Given the description of an element on the screen output the (x, y) to click on. 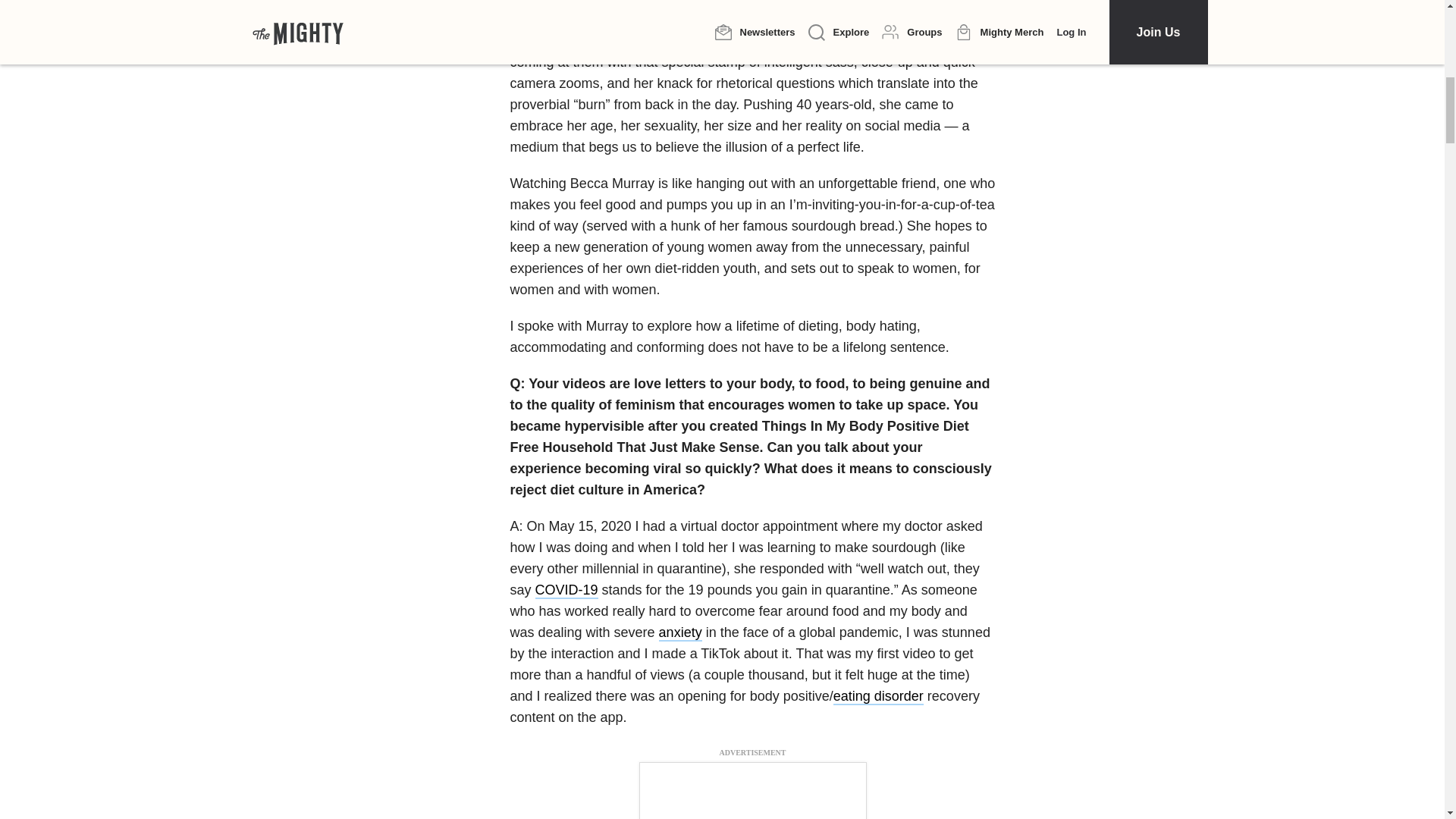
COVID-19 (566, 590)
eating disorder (877, 696)
self-love (564, 3)
anxiety (680, 632)
